Given the description of an element on the screen output the (x, y) to click on. 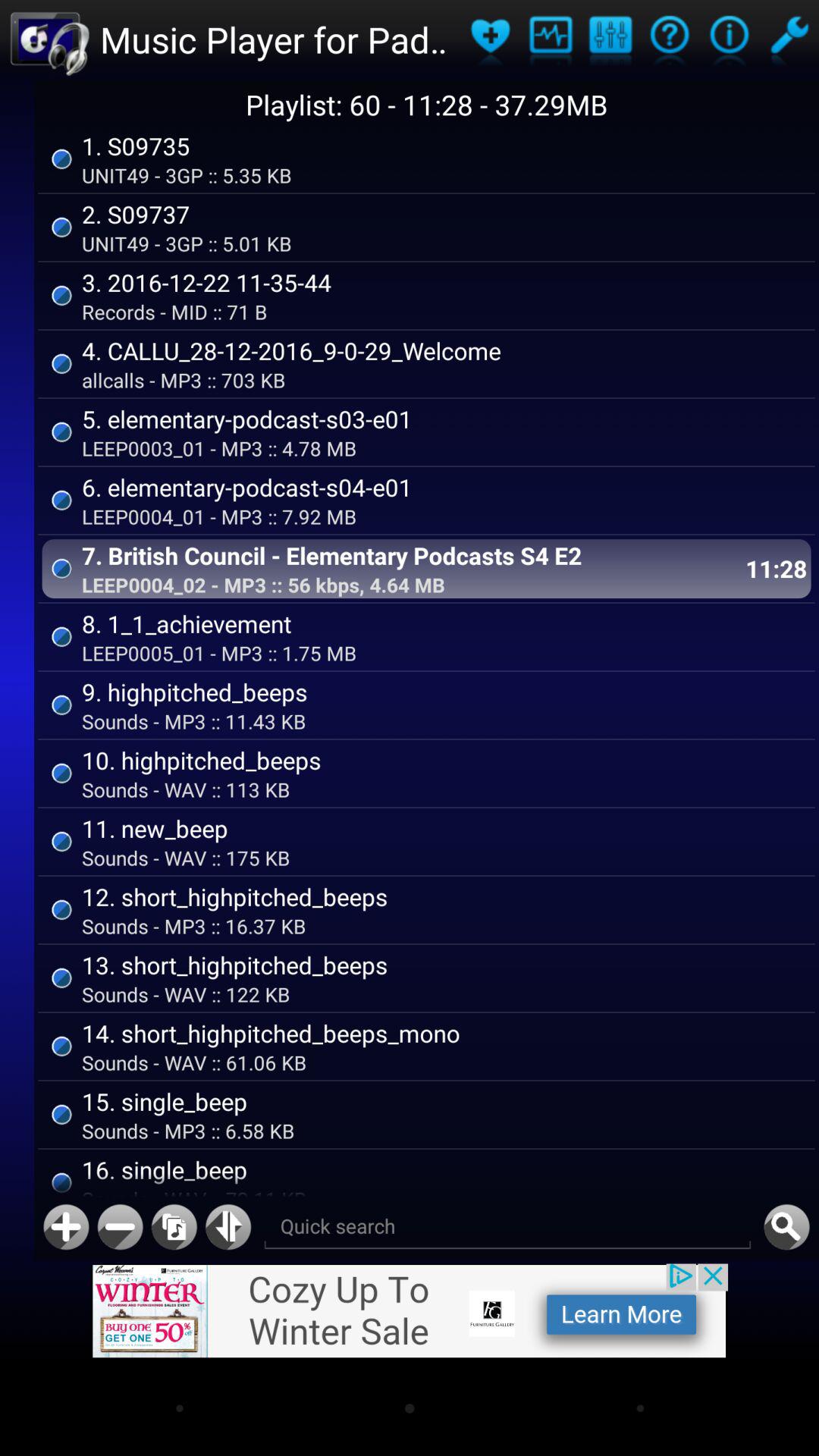
search list (507, 1226)
